Given the description of an element on the screen output the (x, y) to click on. 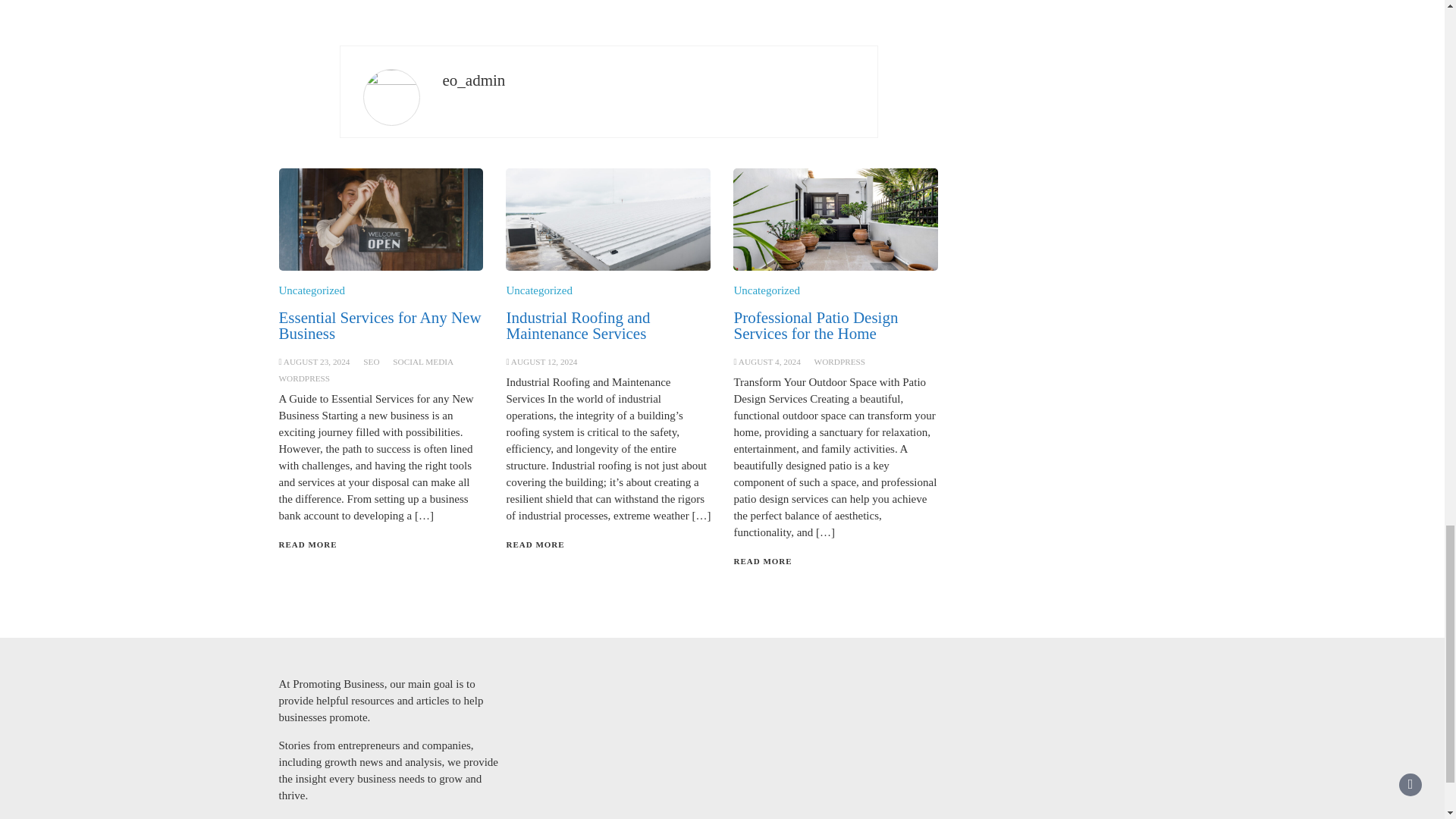
Essential Services for Any New Business (380, 325)
SOCIAL MEDIA (422, 361)
WORDPRESS (839, 361)
Professional Patio Design Services for the Home (815, 325)
Uncategorized (538, 290)
Uncategorized (766, 290)
SEO (370, 361)
AUGUST 23, 2024 (316, 361)
AUGUST 4, 2024 (769, 361)
WORDPRESS (304, 378)
